Given the description of an element on the screen output the (x, y) to click on. 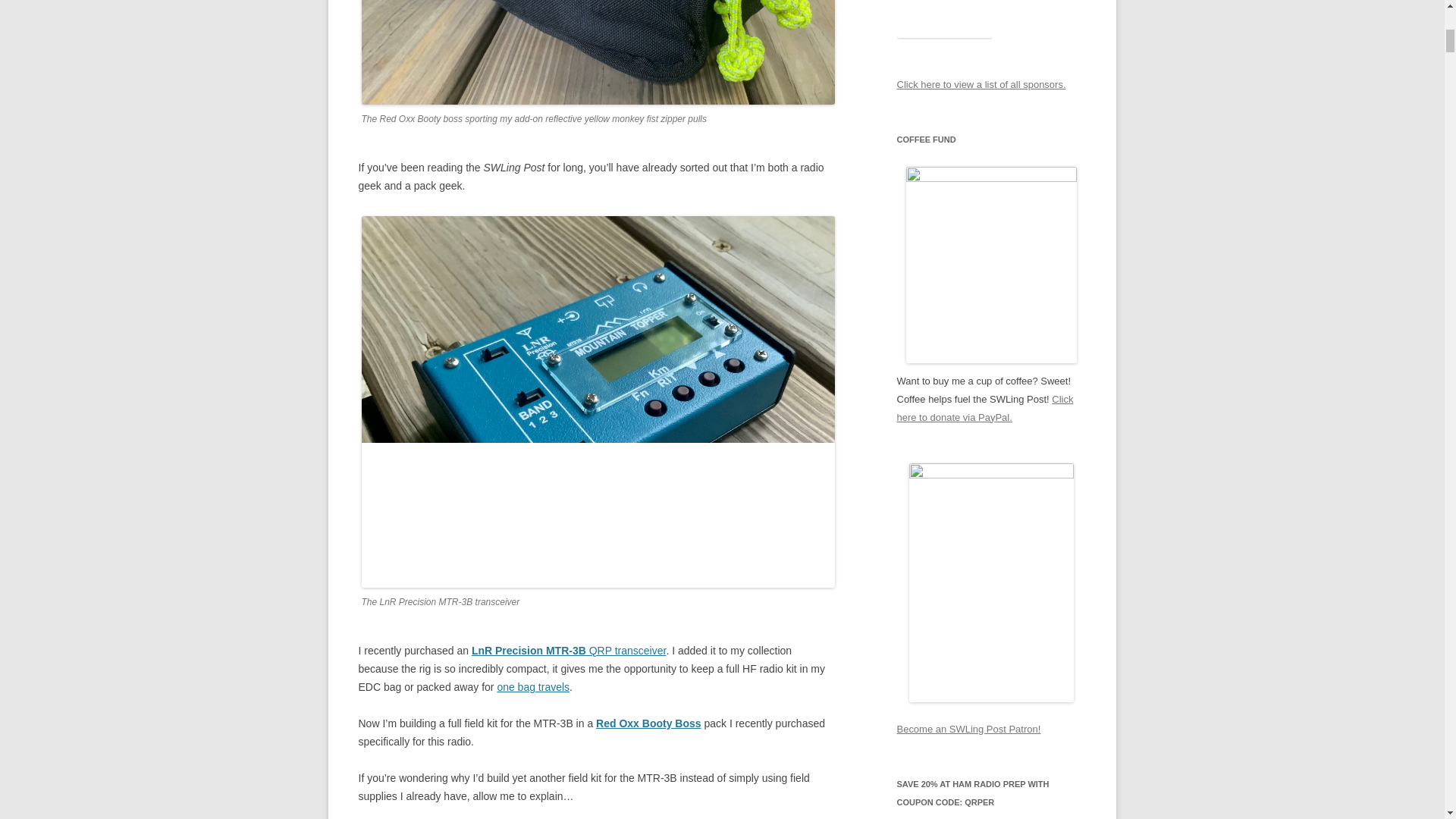
LnR Precision MTR-3B QRP transceiver (568, 650)
Red Oxx Booty Boss (647, 723)
one bag travels (532, 686)
